Given the description of an element on the screen output the (x, y) to click on. 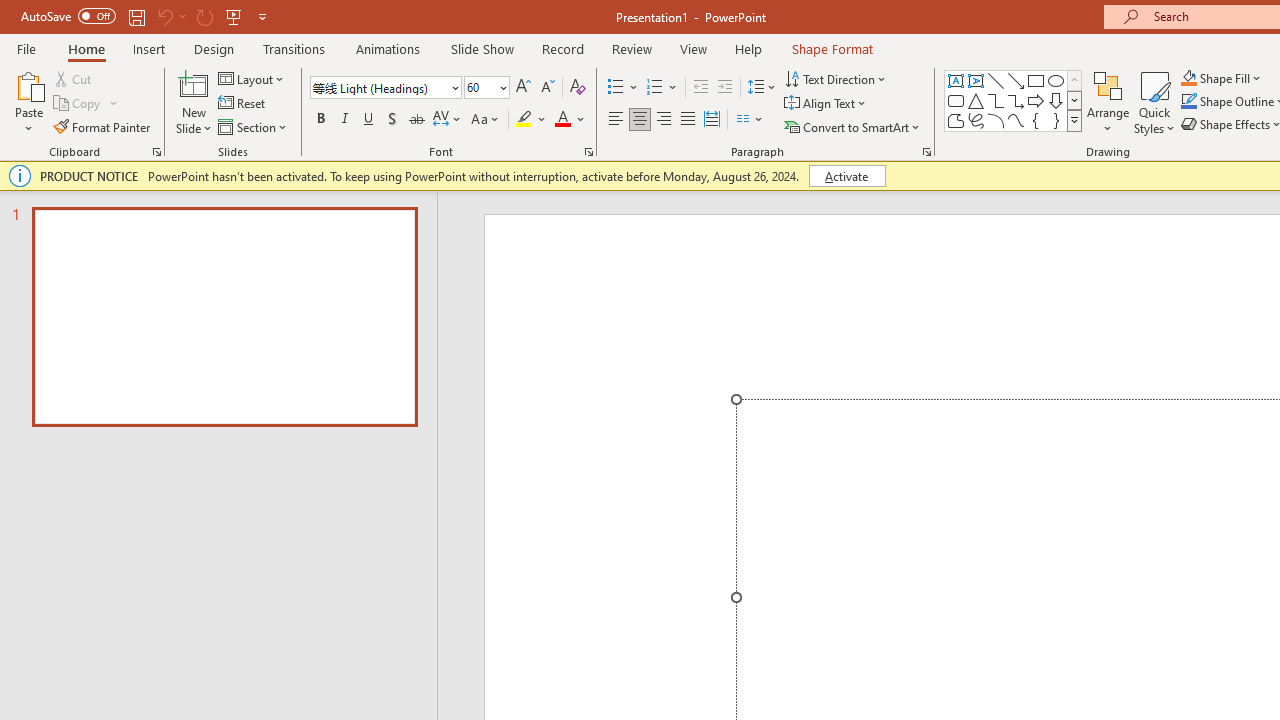
Text Highlight Color (531, 119)
Change Case (486, 119)
Shape Outline Dark Red, Accent 1 (1188, 101)
Font Color (569, 119)
Font Color Red (562, 119)
Bullets (616, 87)
New Slide (193, 102)
Distributed (712, 119)
Convert to SmartArt (853, 126)
Oval (1055, 80)
Isosceles Triangle (975, 100)
Paste (28, 84)
Quick Styles (1154, 102)
Bullets (623, 87)
